Given the description of an element on the screen output the (x, y) to click on. 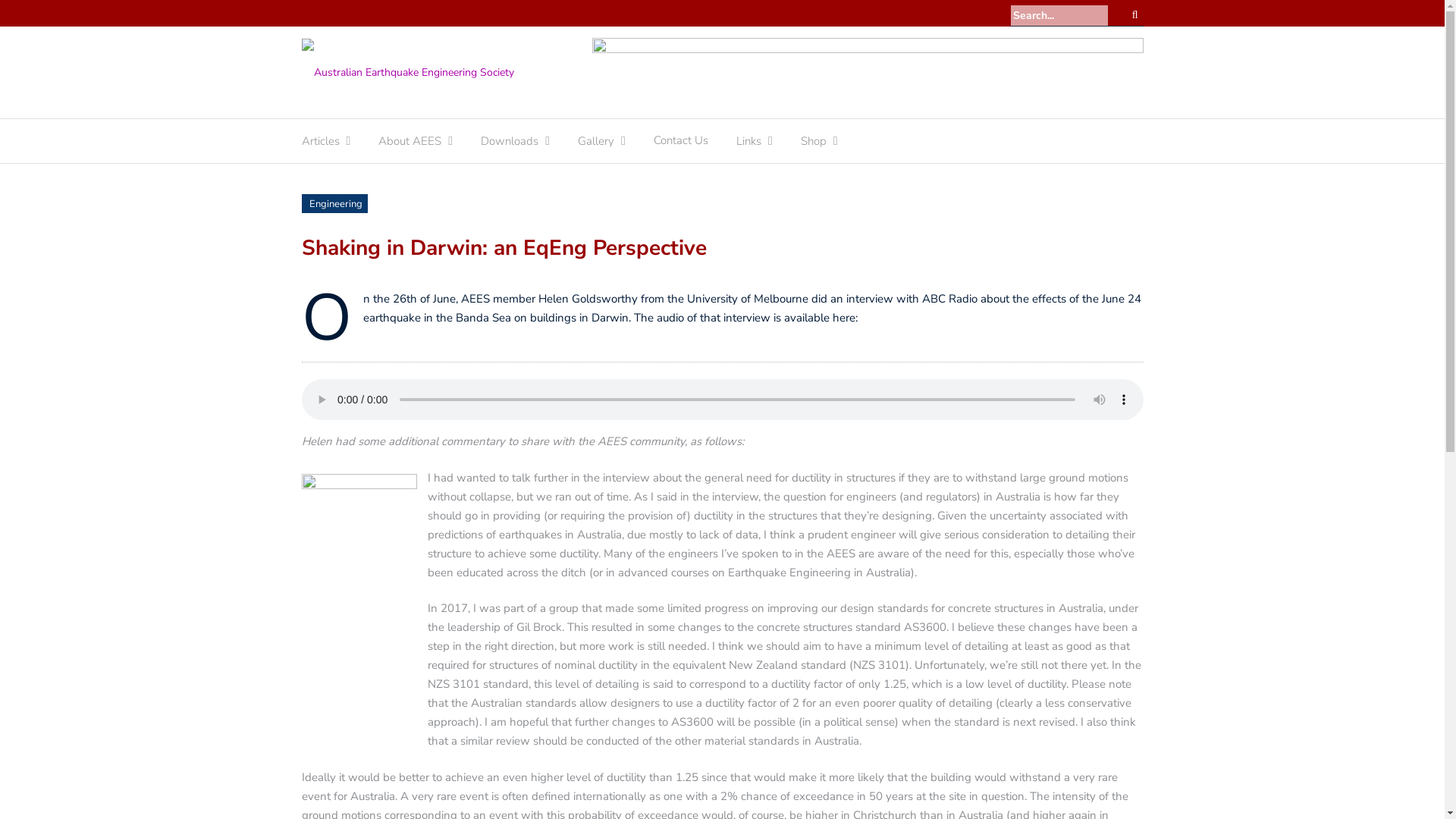
Articles Element type: text (320, 144)
About AEES Element type: text (409, 144)
Downloads Element type: text (509, 144)
Shop Element type: text (813, 144)
Gallery Element type: text (595, 144)
Links Element type: text (748, 144)
Contact Us Element type: text (680, 143)
Search   Element type: text (1134, 15)
Engineering Element type: text (335, 203)
